Given the description of an element on the screen output the (x, y) to click on. 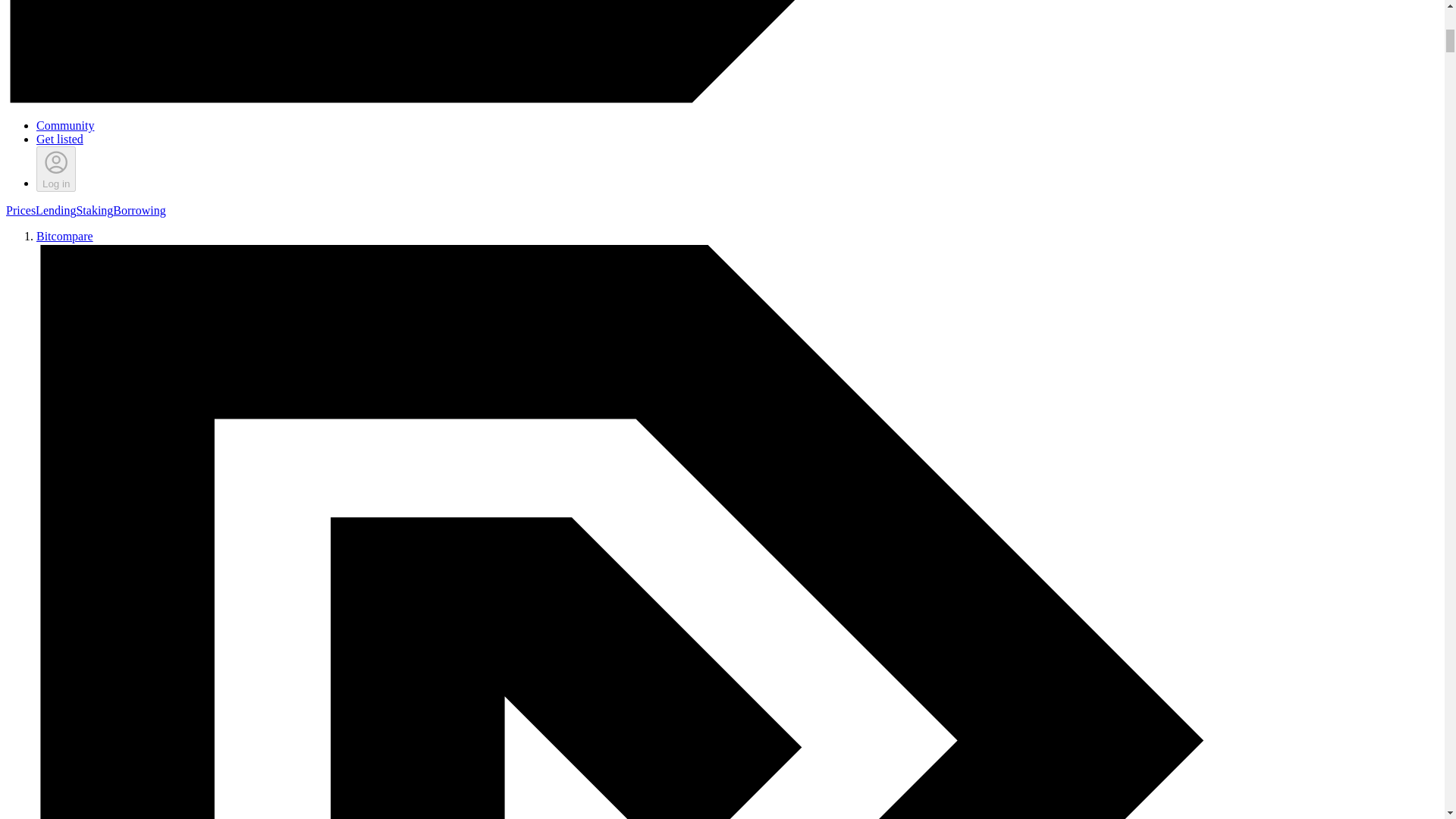
Staking (94, 210)
Get listed (59, 138)
Log in (55, 168)
Prices (19, 210)
Community (65, 124)
Lending (54, 210)
Borrowing (139, 210)
